Given the description of an element on the screen output the (x, y) to click on. 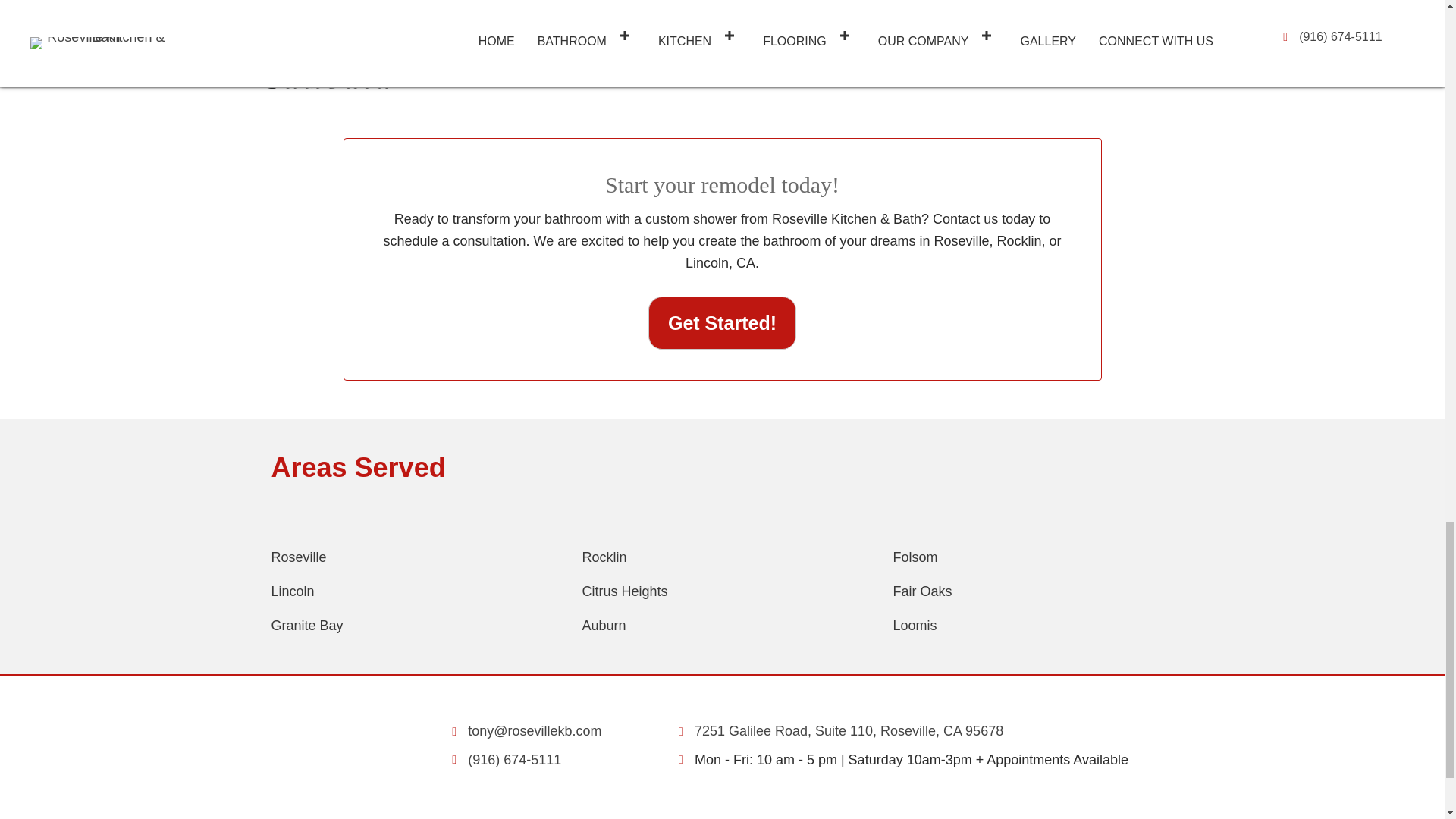
dekton-logo-vector (959, 27)
one quartz (642, 27)
vadara (800, 27)
silestone (484, 38)
della quartz (1116, 27)
